Given the description of an element on the screen output the (x, y) to click on. 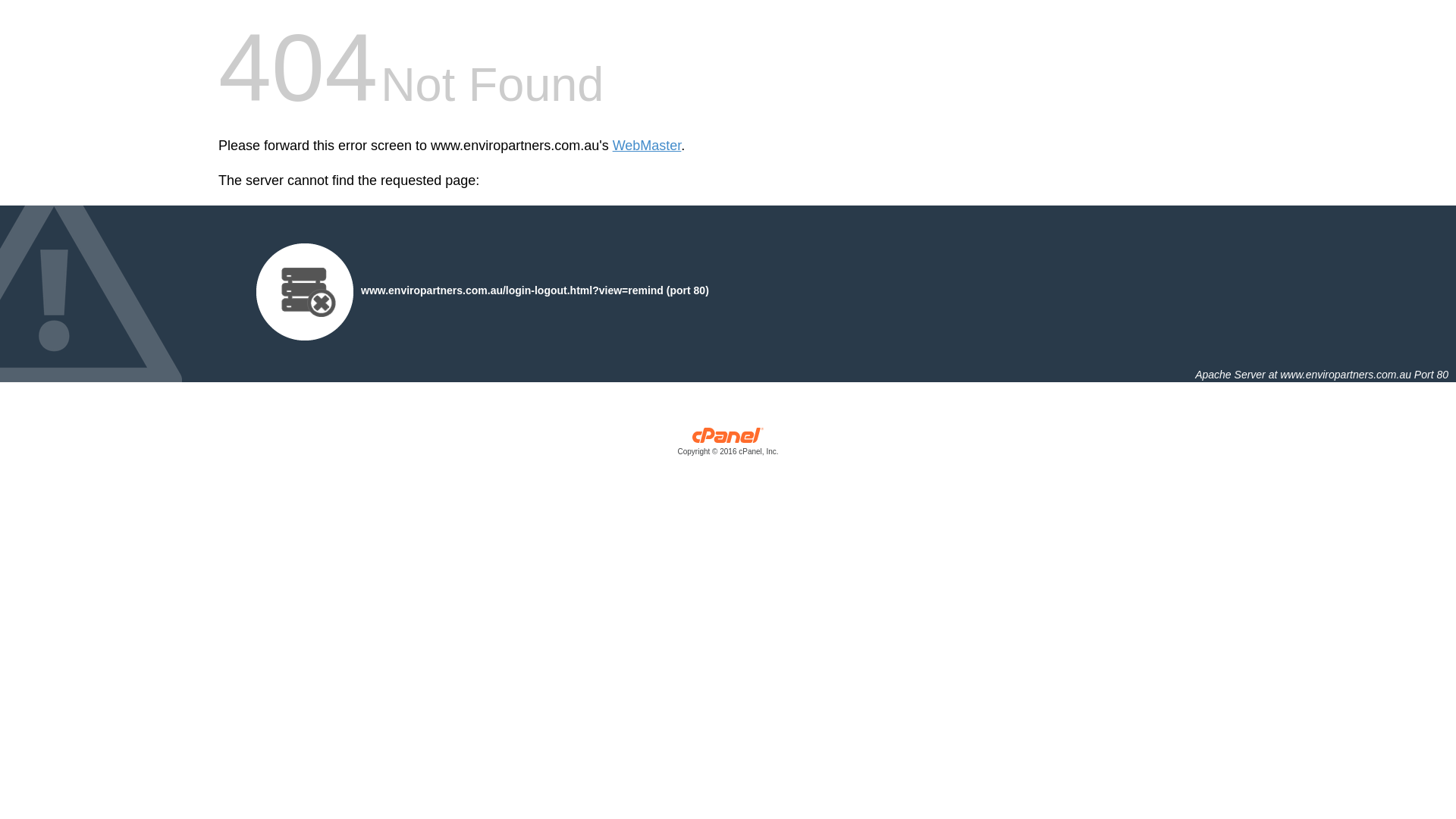
WebMaster Element type: text (646, 145)
